Given the description of an element on the screen output the (x, y) to click on. 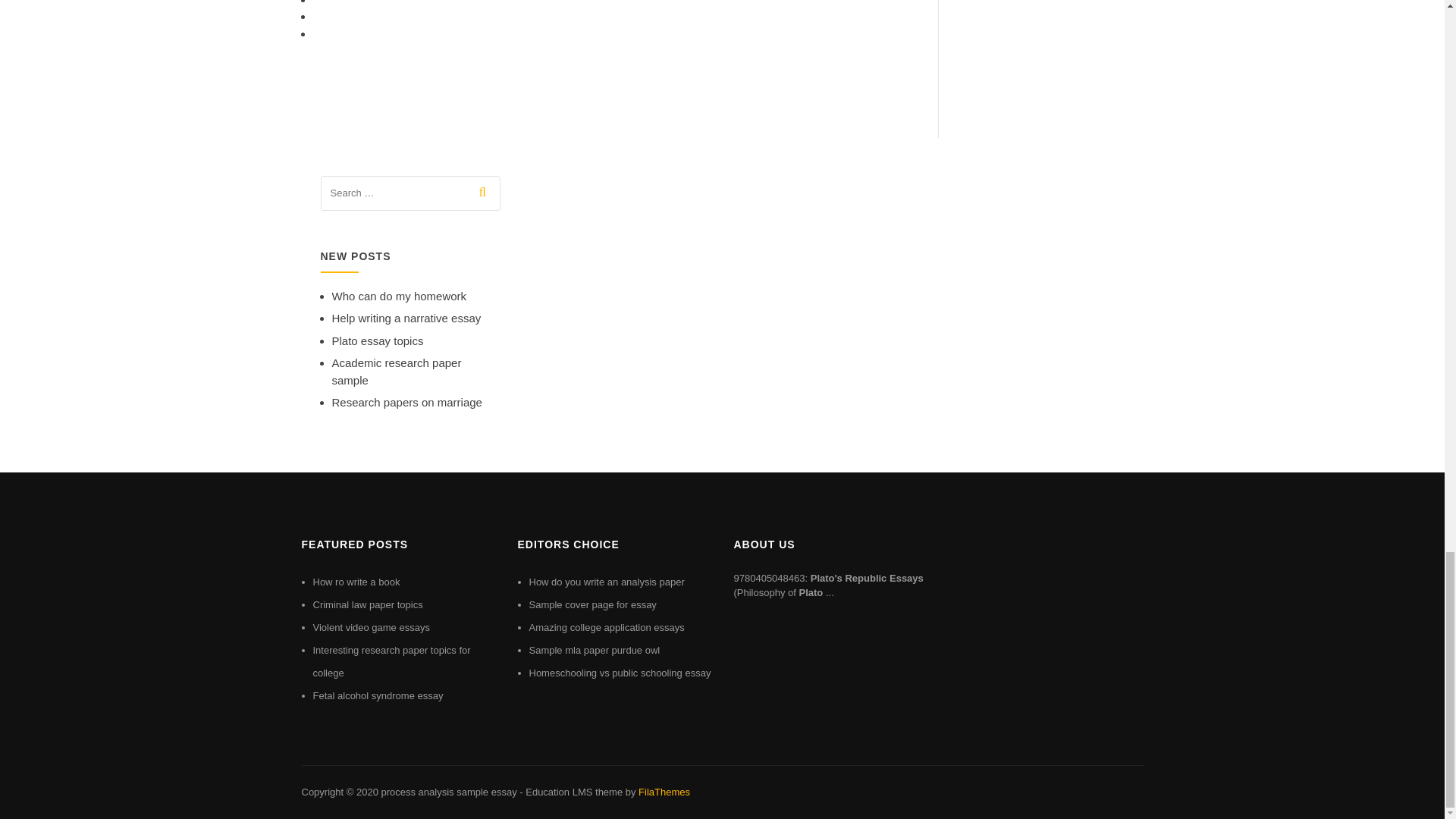
Plato essay topics (377, 340)
How do you write an analysis paper (606, 582)
Homeschooling vs public schooling essay (620, 672)
Amazing college application essays (606, 627)
How ro write a book (355, 582)
Academic research paper sample (396, 371)
Interesting research paper topics for college (391, 661)
Violent video game essays (371, 627)
Research papers on marriage (406, 401)
Who can do my homework (399, 295)
